Given the description of an element on the screen output the (x, y) to click on. 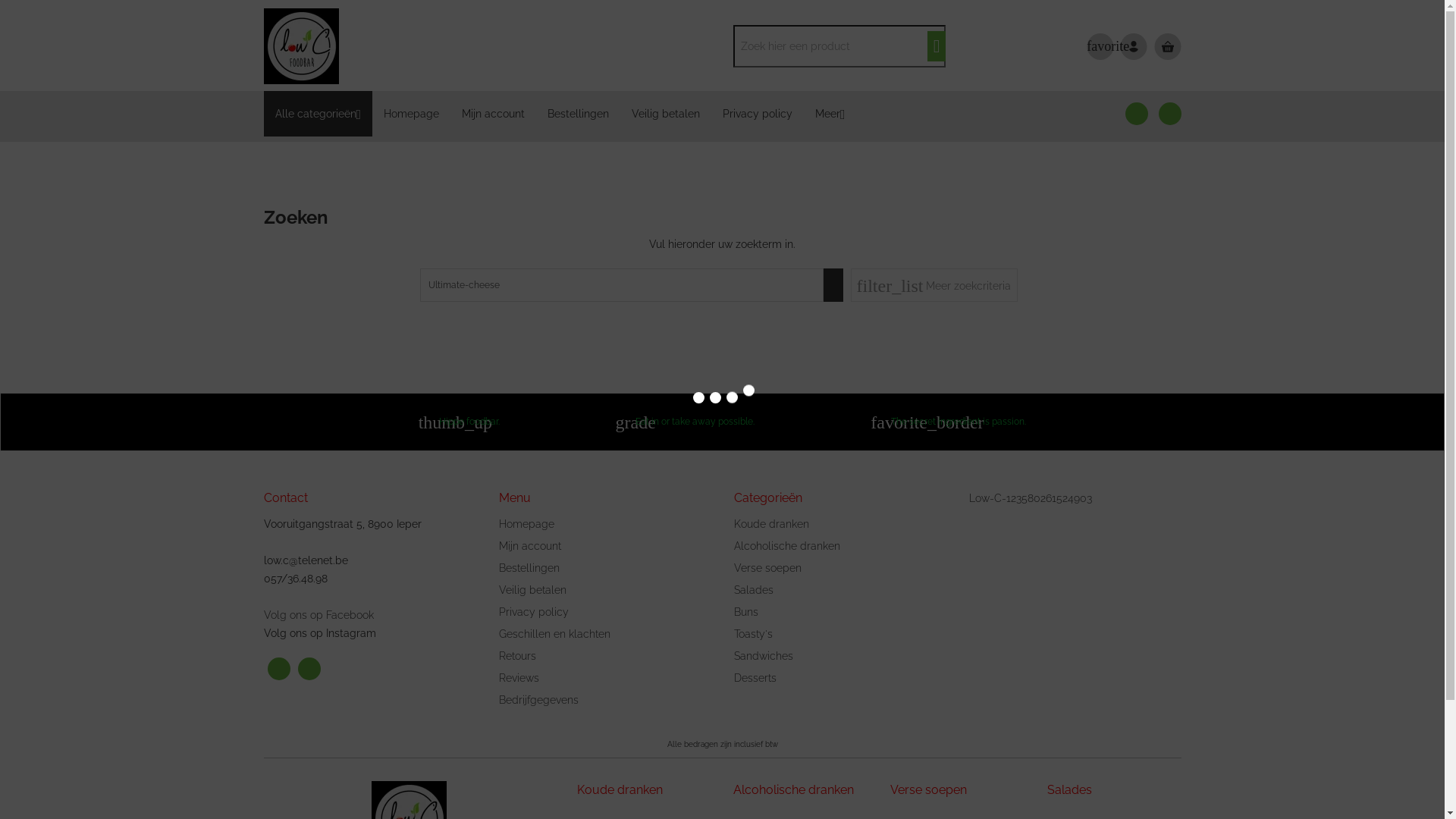
Bestellingen Element type: text (578, 113)
Mijn account Element type: text (529, 545)
Login Element type: hover (1133, 45)
Low-C-123580261524903 Element type: text (1030, 498)
Homepage Element type: text (526, 523)
Koude dranken Element type: text (644, 790)
Homepage Element type: hover (377, 45)
Salades Element type: text (1114, 790)
Alcoholische dranken Element type: text (787, 545)
Toasty's Element type: text (753, 633)
Veilig betalen Element type: text (532, 589)
Desserts Element type: text (755, 677)
Geschillen en klachten Element type: text (554, 633)
Koude dranken Element type: text (771, 523)
Sandwiches Element type: text (763, 655)
Privacy policy Element type: text (757, 113)
Reviews Element type: text (518, 677)
Buns Element type: text (746, 611)
Bestellingen Element type: text (528, 567)
Bedrijfgegevens Element type: text (538, 699)
Veilig betalen Element type: text (665, 113)
Homepage Element type: text (411, 113)
Privacy policy Element type: text (533, 611)
Verse soepen Element type: text (767, 567)
Verse soepen Element type: text (957, 790)
Volg ons op Facebook Element type: text (318, 614)
Salades Element type: text (753, 589)
Alcoholische dranken Element type: text (800, 790)
Mijn account Element type: text (493, 113)
Retours Element type: text (517, 655)
favorite Element type: text (1107, 45)
